Given the description of an element on the screen output the (x, y) to click on. 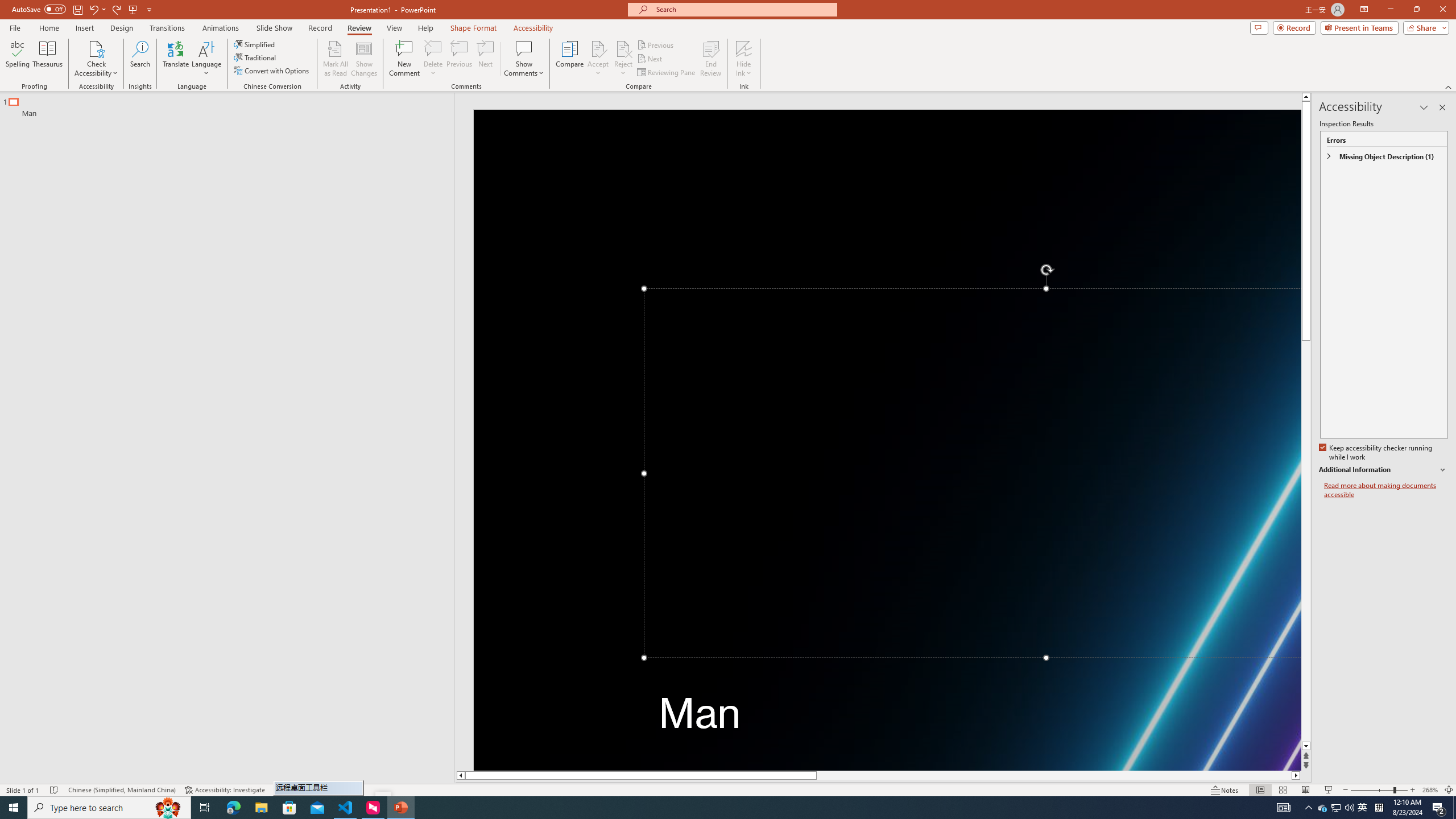
Reviewing Pane (666, 72)
Zoom 268% (1430, 790)
Previous (655, 44)
Reject Change (622, 48)
Reject (622, 58)
